Given the description of an element on the screen output the (x, y) to click on. 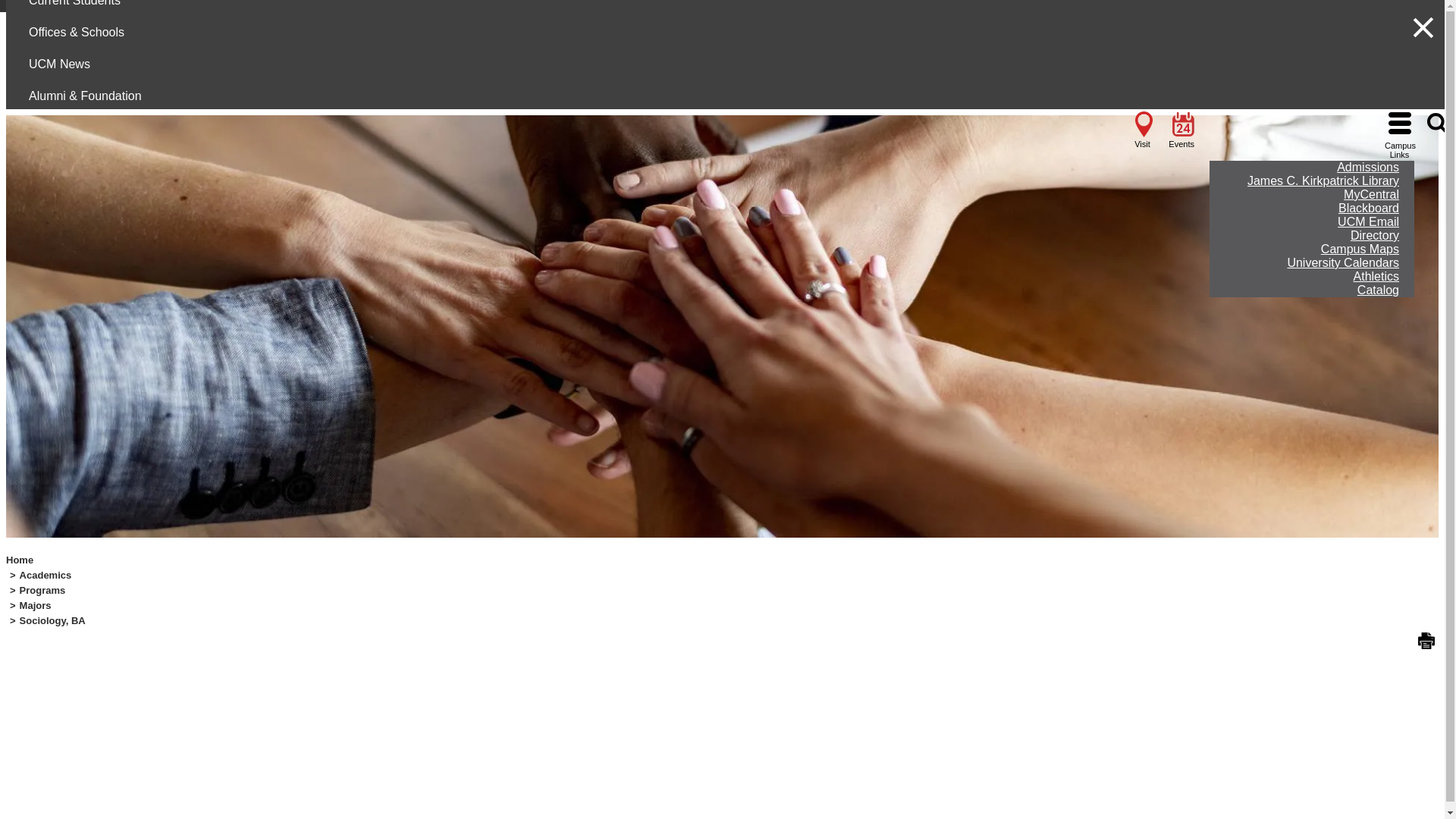
Visit (716, 82)
Directory (1374, 235)
UCM Email (1367, 221)
Apply to UCM (783, 82)
Apply (783, 82)
Admissions (1367, 166)
Athletics (1375, 276)
James C. Kirkpatrick Library (1322, 180)
Admissions (1367, 166)
MyCentral (1370, 194)
